Given the description of an element on the screen output the (x, y) to click on. 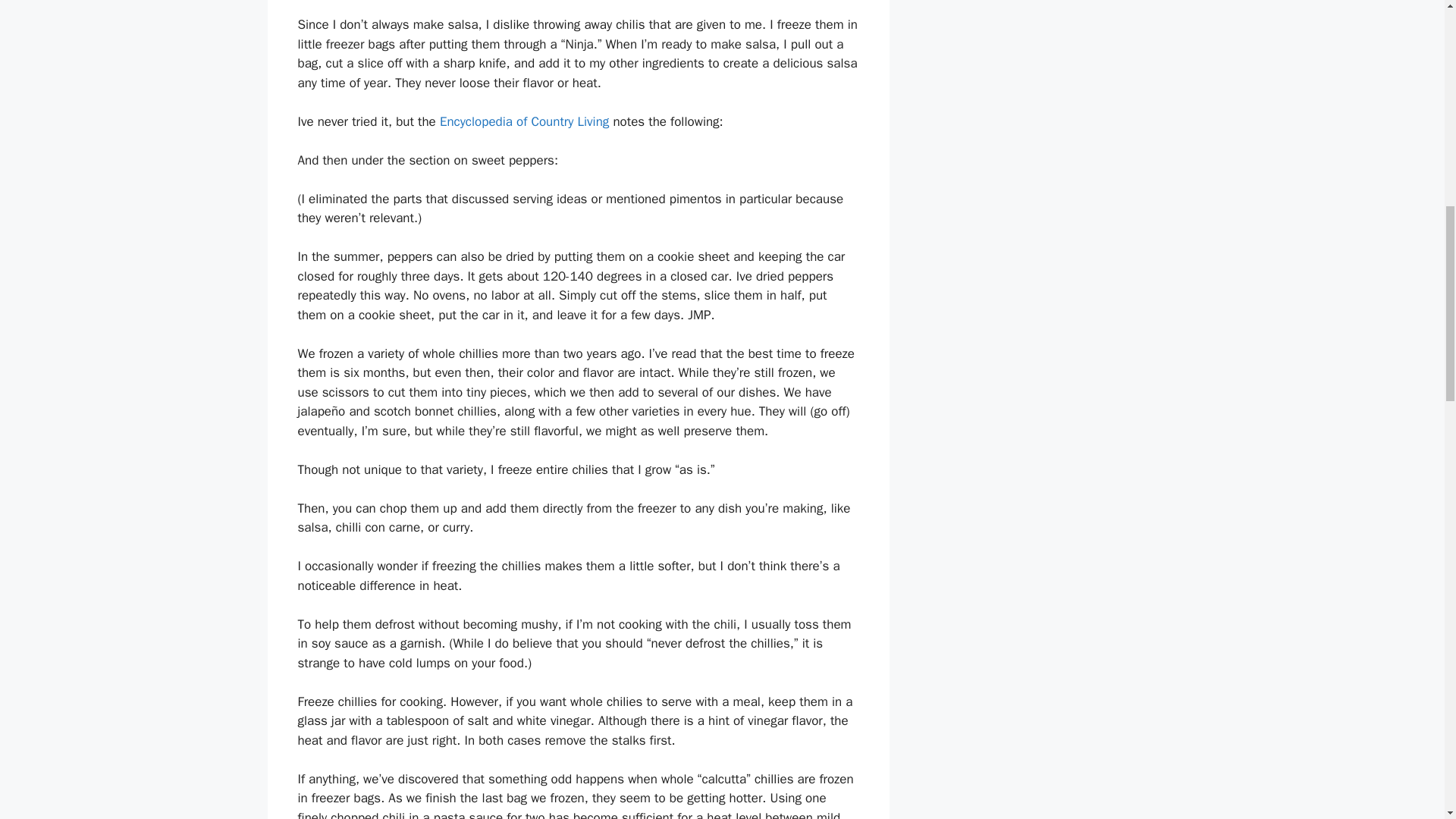
Encyclopedia of Country Living (523, 121)
